Given the description of an element on the screen output the (x, y) to click on. 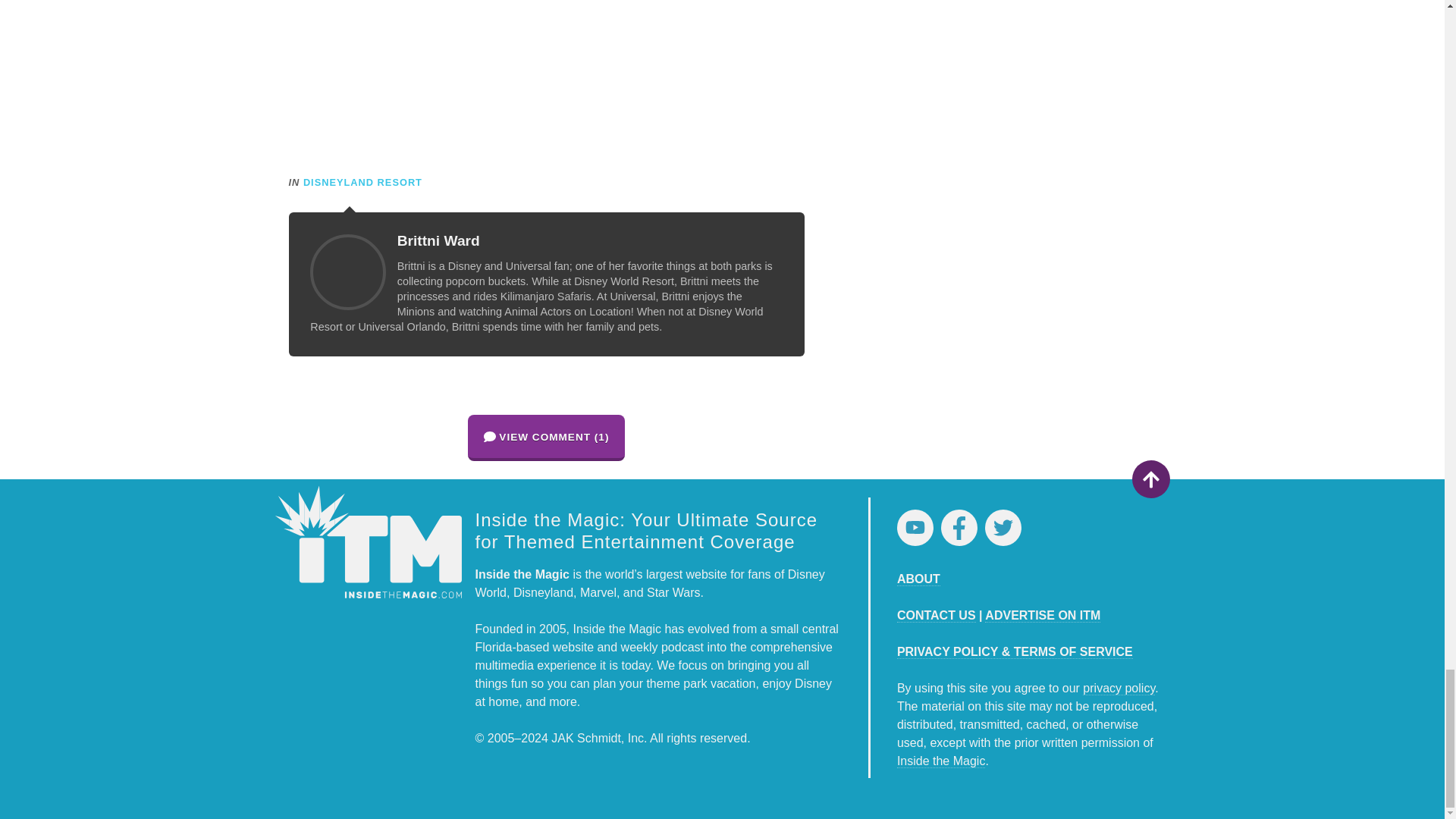
Return to Top (1150, 478)
